Given the description of an element on the screen output the (x, y) to click on. 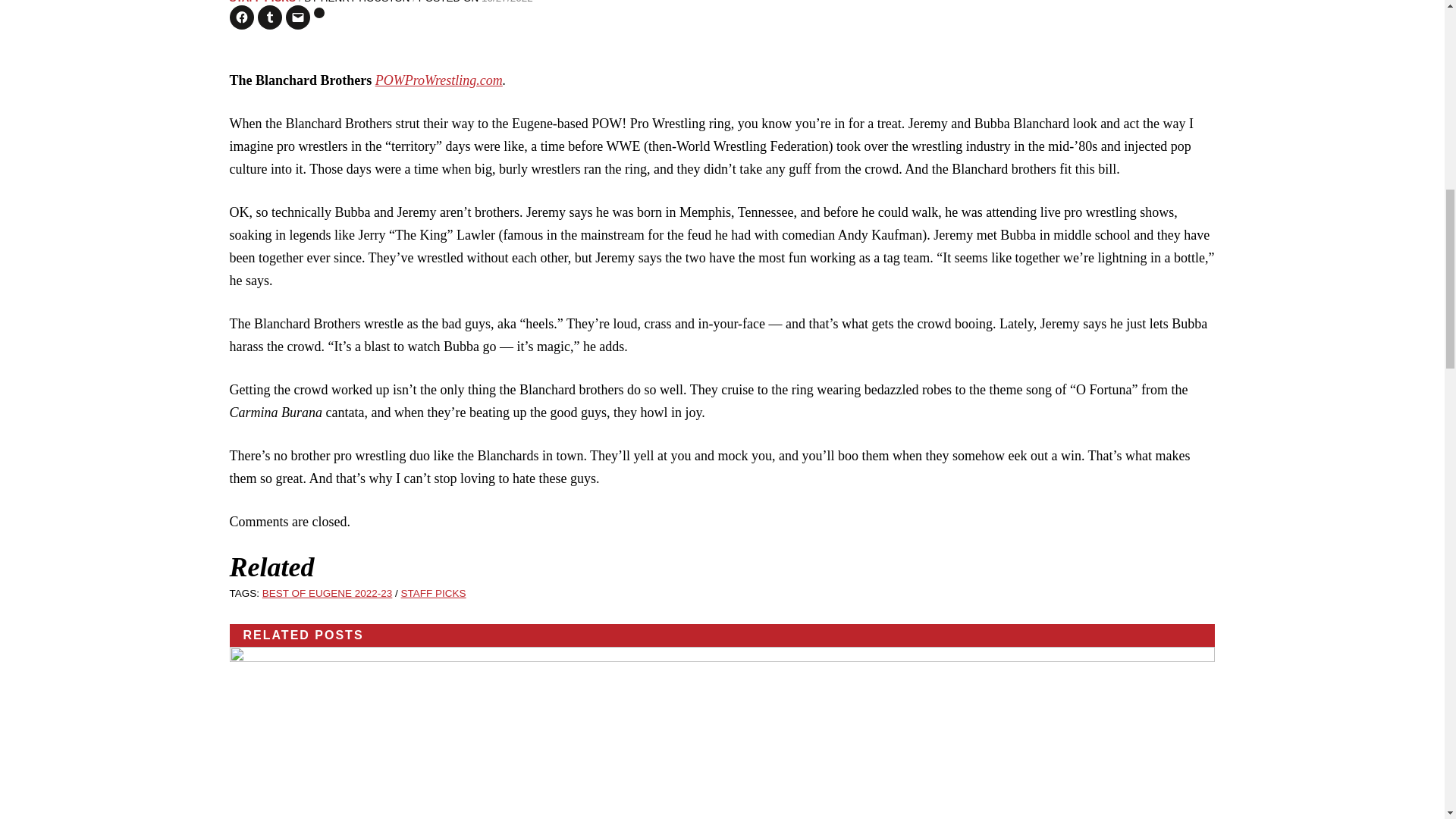
Click to print (319, 12)
Click to email a link to a friend (296, 16)
Click to share on Tumblr (269, 16)
Click to share on Facebook (240, 16)
